Given the description of an element on the screen output the (x, y) to click on. 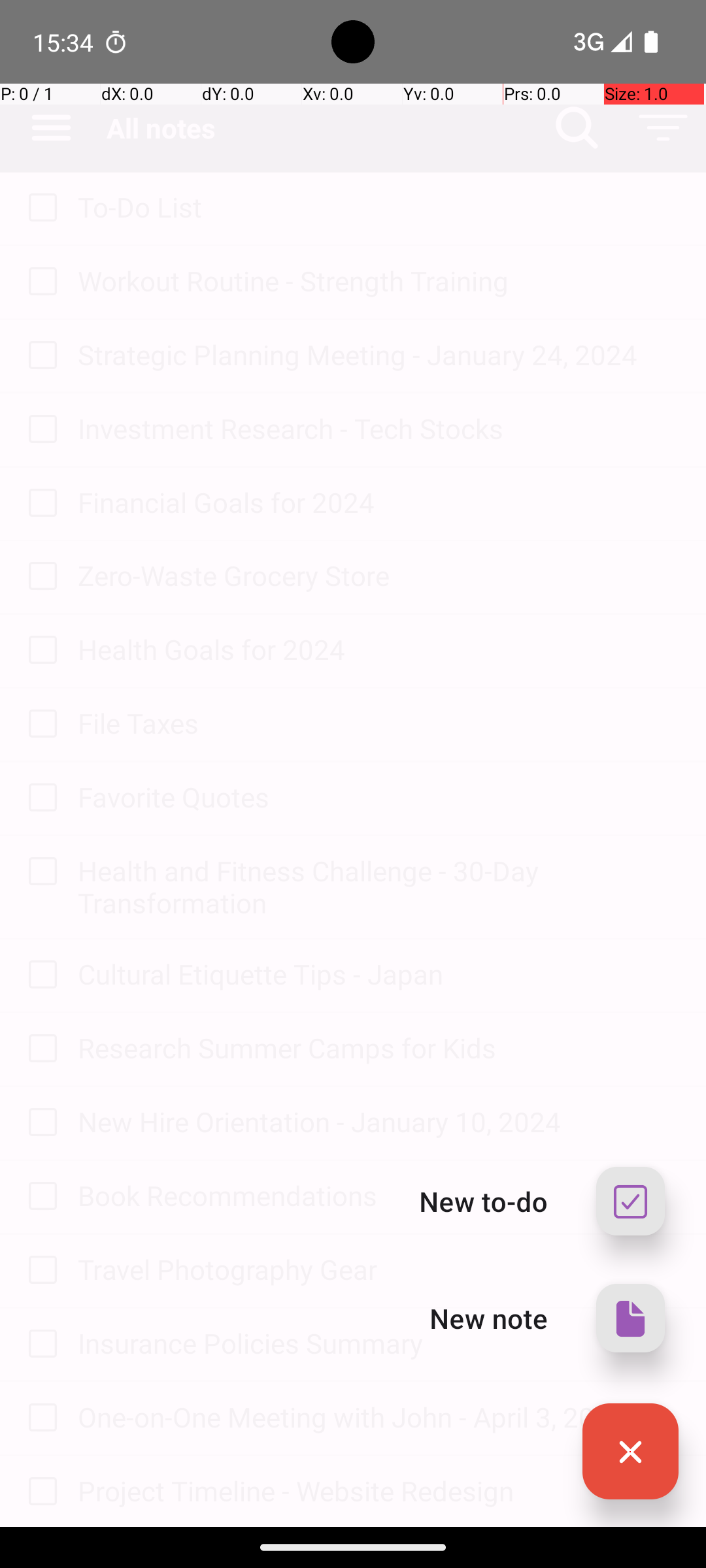
New to-do Element type: android.widget.Button (483, 1201)
New note Element type: android.widget.Button (488, 1317)
Add new, expanded Element type: android.widget.Button (630, 1451)
 Element type: android.widget.TextView (630, 1450)
to-do: To-Do List Element type: android.widget.CheckBox (38, 208)
To-Do List Element type: android.widget.TextView (378, 206)
to-do: Workout Routine - Strength Training Element type: android.widget.CheckBox (38, 282)
Workout Routine - Strength Training Element type: android.widget.TextView (378, 280)
to-do: Strategic Planning Meeting - January 24, 2024 Element type: android.widget.CheckBox (38, 356)
Strategic Planning Meeting - January 24, 2024 Element type: android.widget.TextView (378, 354)
to-do: Investment Research - Tech Stocks Element type: android.widget.CheckBox (38, 429)
Investment Research - Tech Stocks Element type: android.widget.TextView (378, 427)
to-do: Financial Goals for 2024 Element type: android.widget.CheckBox (38, 503)
Financial Goals for 2024 Element type: android.widget.TextView (378, 501)
to-do: Zero-Waste Grocery Store Element type: android.widget.CheckBox (38, 576)
Zero-Waste Grocery Store Element type: android.widget.TextView (378, 574)
to-do: Health Goals for 2024 Element type: android.widget.CheckBox (38, 650)
Health Goals for 2024 Element type: android.widget.TextView (378, 648)
to-do: File Taxes Element type: android.widget.CheckBox (38, 724)
File Taxes Element type: android.widget.TextView (378, 722)
to-do: Favorite Quotes Element type: android.widget.CheckBox (38, 798)
Favorite Quotes Element type: android.widget.TextView (378, 796)
to-do: Health and Fitness Challenge - 30-Day Transformation Element type: android.widget.CheckBox (38, 872)
Health and Fitness Challenge - 30-Day Transformation Element type: android.widget.TextView (378, 886)
to-do: Cultural Etiquette Tips - Japan Element type: android.widget.CheckBox (38, 975)
Cultural Etiquette Tips - Japan Element type: android.widget.TextView (378, 973)
to-do: Research Summer Camps for Kids Element type: android.widget.CheckBox (38, 1049)
Research Summer Camps for Kids Element type: android.widget.TextView (378, 1047)
to-do: Book Recommendations Element type: android.widget.CheckBox (38, 1196)
Book Recommendations Element type: android.widget.TextView (378, 1194)
to-do: Travel Photography Gear Element type: android.widget.CheckBox (38, 1270)
Travel Photography Gear Element type: android.widget.TextView (378, 1268)
to-do: Insurance Policies Summary Element type: android.widget.CheckBox (38, 1344)
